Given the description of an element on the screen output the (x, y) to click on. 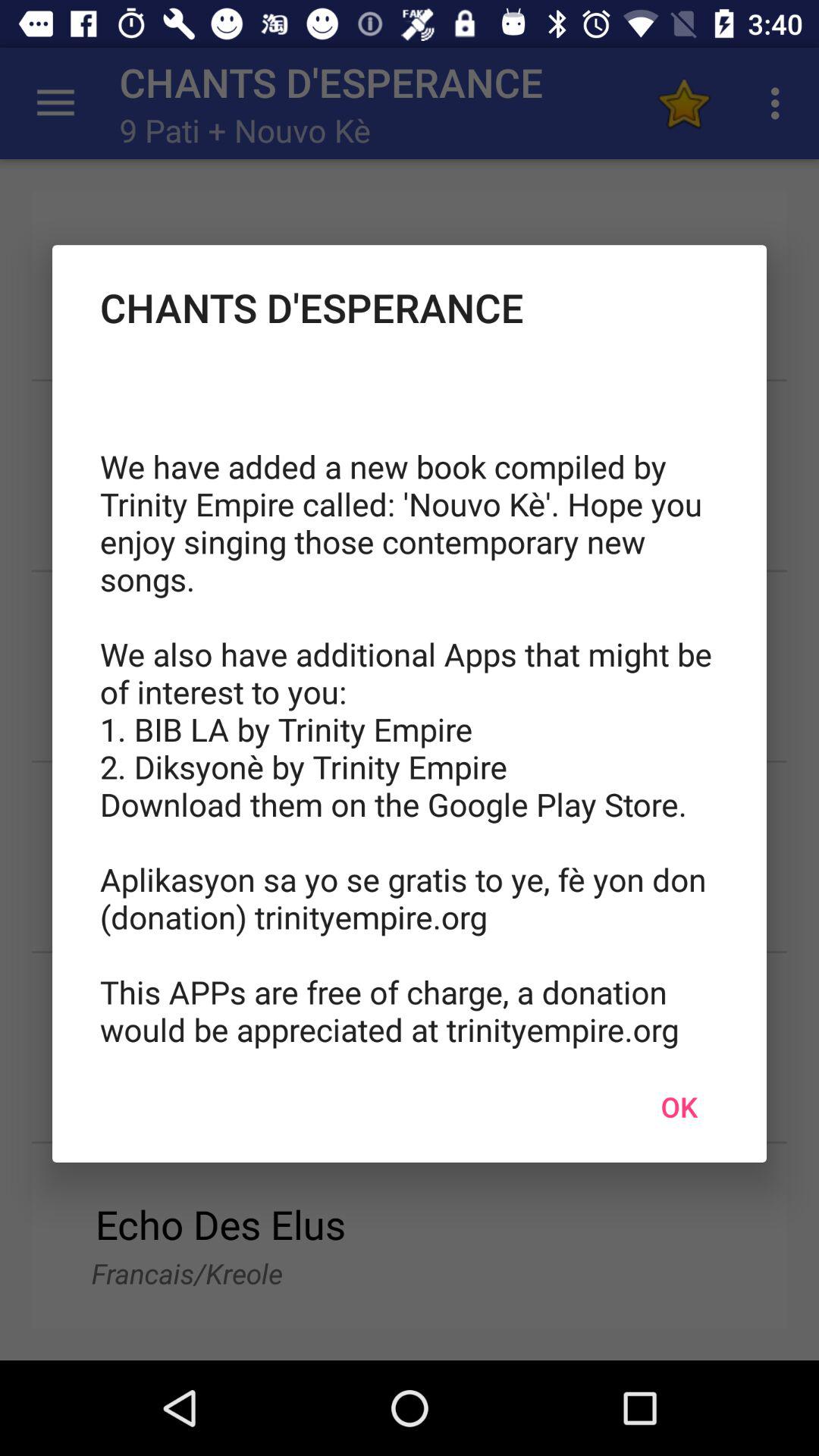
launch the item below we have added item (678, 1106)
